Given the description of an element on the screen output the (x, y) to click on. 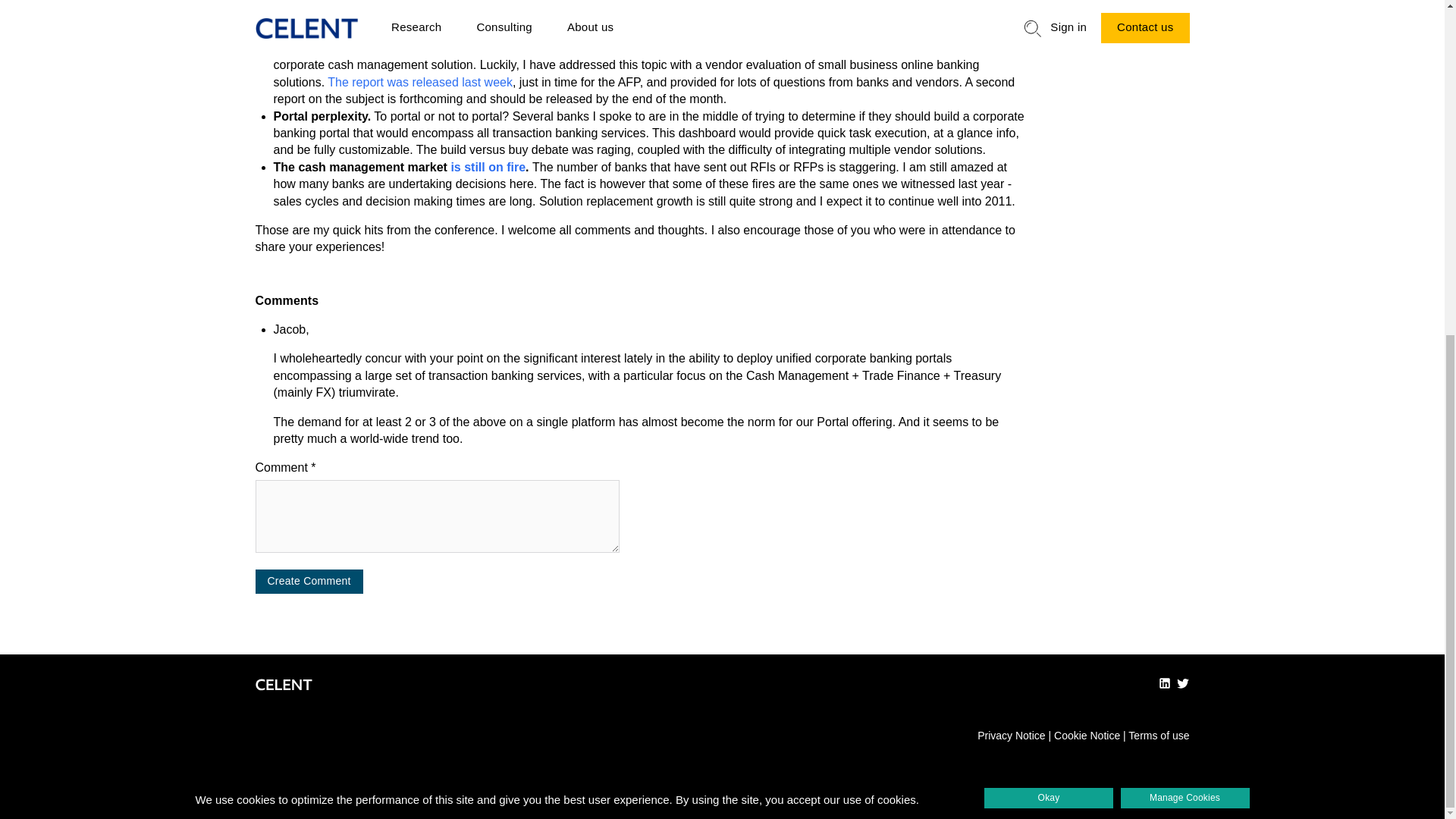
Okay (1048, 236)
Create Comment (308, 581)
Manage Cookies (1185, 236)
